Given the description of an element on the screen output the (x, y) to click on. 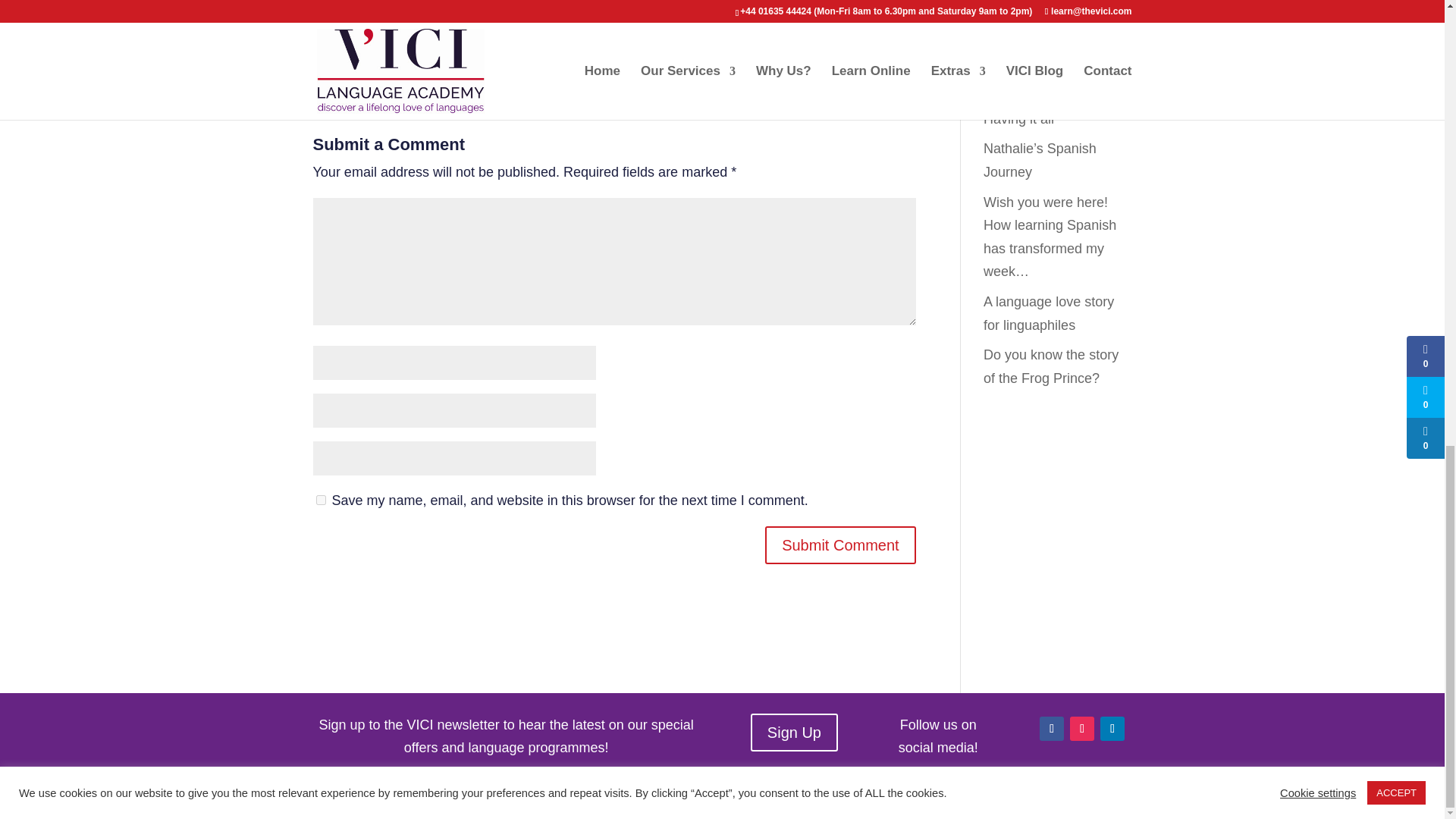
Follow on Facebook (1051, 728)
Submit Comment (840, 545)
Follow on Instagram (1082, 728)
yes (319, 500)
Follow on LinkedIn (1112, 728)
